Given the description of an element on the screen output the (x, y) to click on. 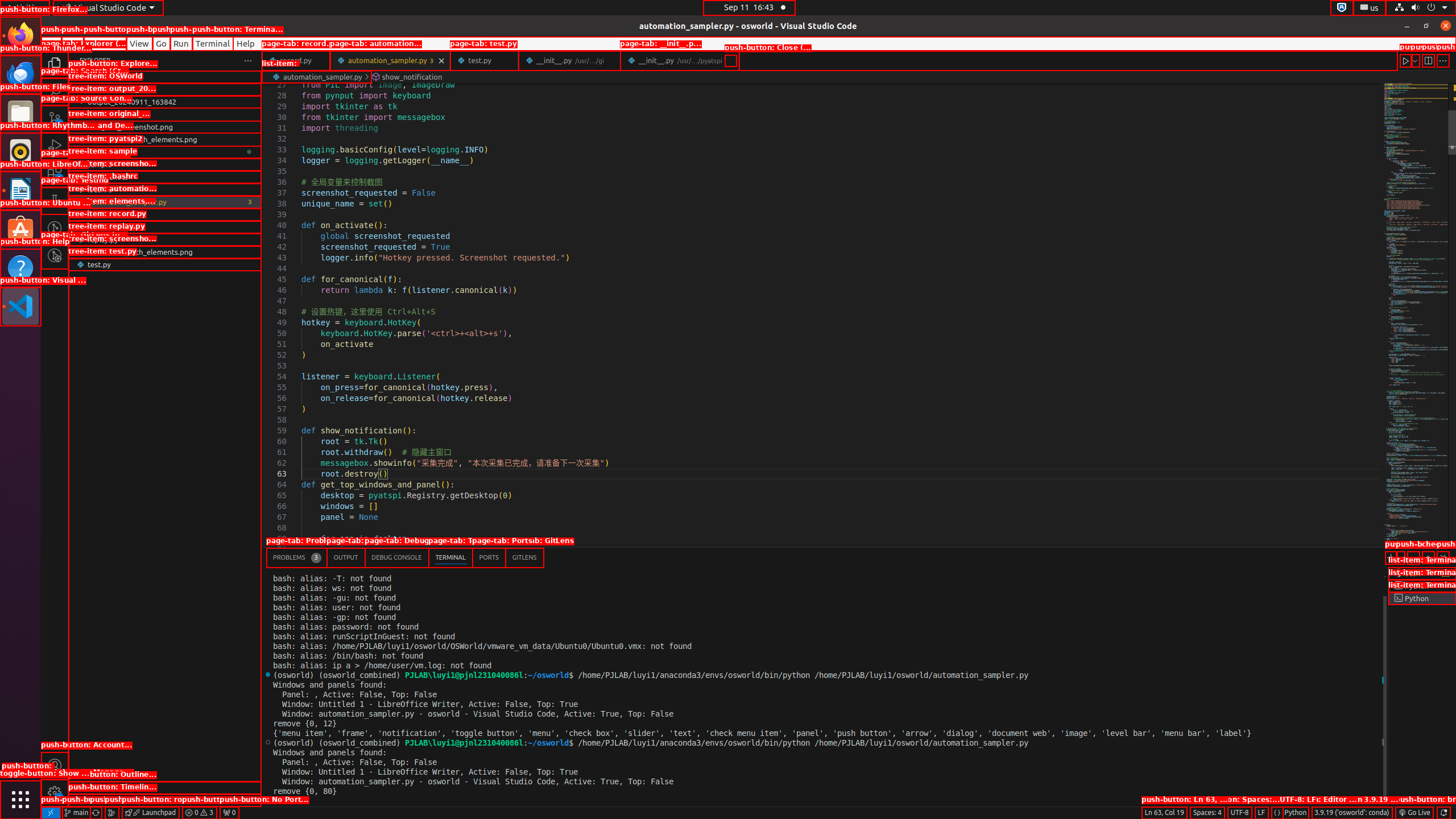
test.py Element type: page-tab (483, 60)
Files Explorer Element type: tree (164, 432)
__init__.py Element type: page-tab (679, 60)
Timeline Section Element type: push-button (164, 799)
Ln 63, Col 19 Element type: push-button (1163, 812)
